Given the description of an element on the screen output the (x, y) to click on. 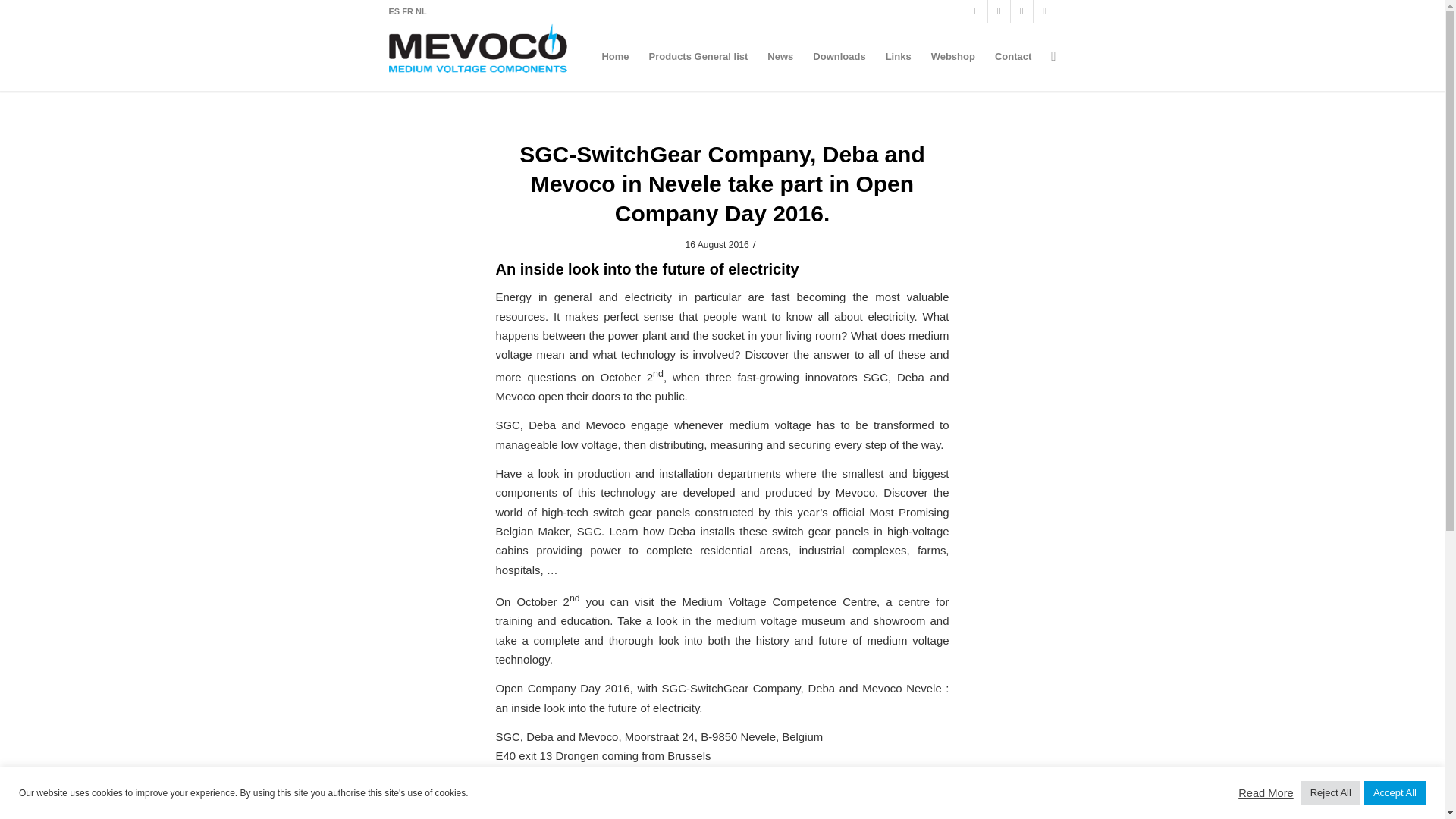
NL  (420, 10)
Facebook (975, 11)
FR  (407, 10)
ES  (394, 10)
Youtube (998, 11)
Linkedin (1021, 11)
Gplus (1043, 11)
